Given the description of an element on the screen output the (x, y) to click on. 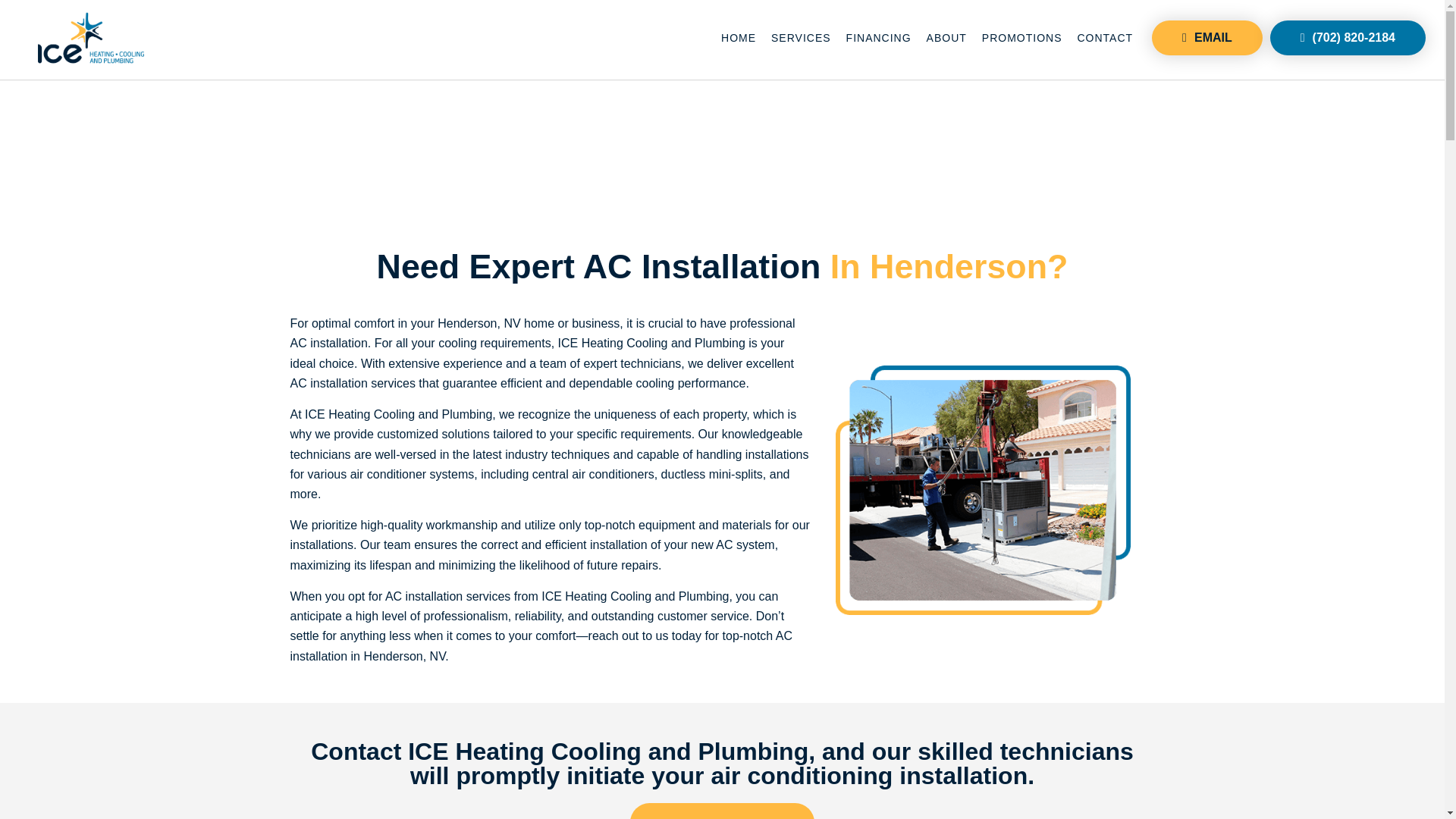
ICE Heating Cooling and Plumbing (90, 38)
